Given the description of an element on the screen output the (x, y) to click on. 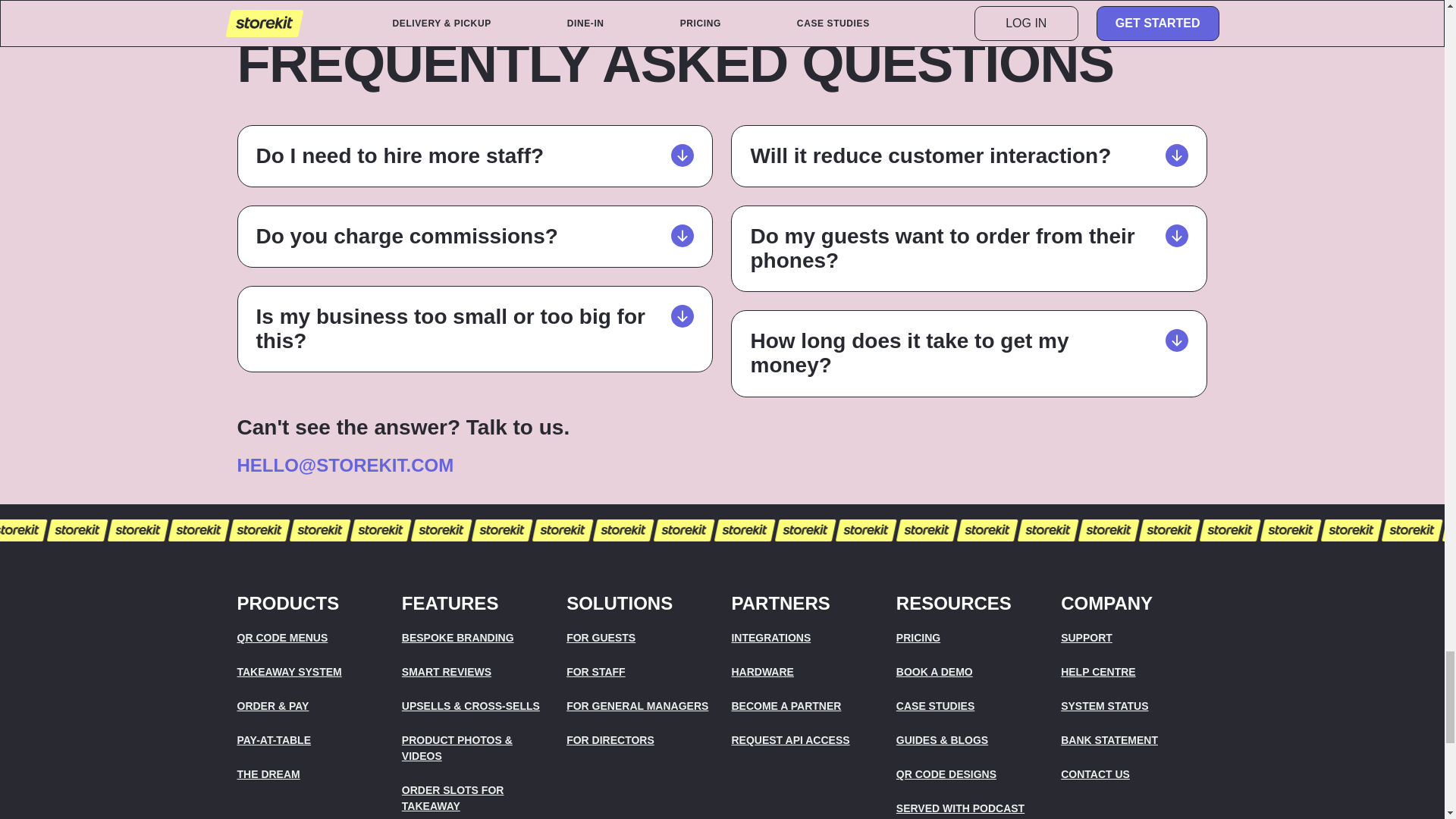
HARDWARE (803, 672)
QR CODE MENUS (308, 637)
BESPOKE BRANDING (474, 637)
ORDER SLOTS FOR TAKEAWAY (474, 798)
SMART REVIEWS (474, 672)
INTEGRATIONS (803, 637)
PAY-AT-TABLE (308, 740)
FOR STAFF (639, 672)
FOR GENERAL MANAGERS (639, 706)
FOR DIRECTORS (639, 740)
FOR GUESTS (639, 637)
TAKEAWAY SYSTEM (308, 672)
THE DREAM (308, 774)
